Given the description of an element on the screen output the (x, y) to click on. 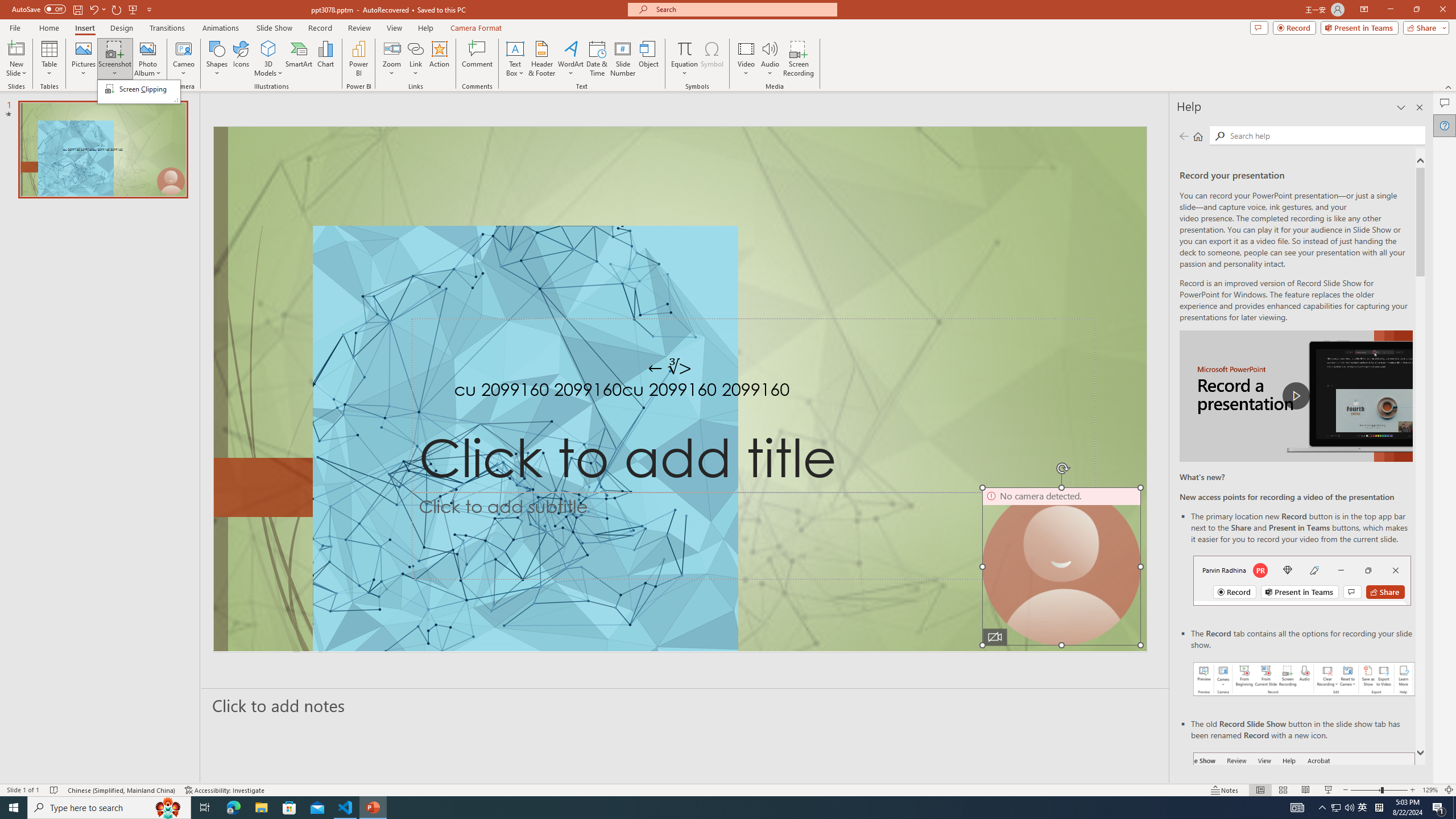
New Photo Album... (147, 48)
Chart... (325, 58)
WordArt (570, 58)
Date & Time... (596, 58)
TextBox 7 (670, 367)
